Given the description of an element on the screen output the (x, y) to click on. 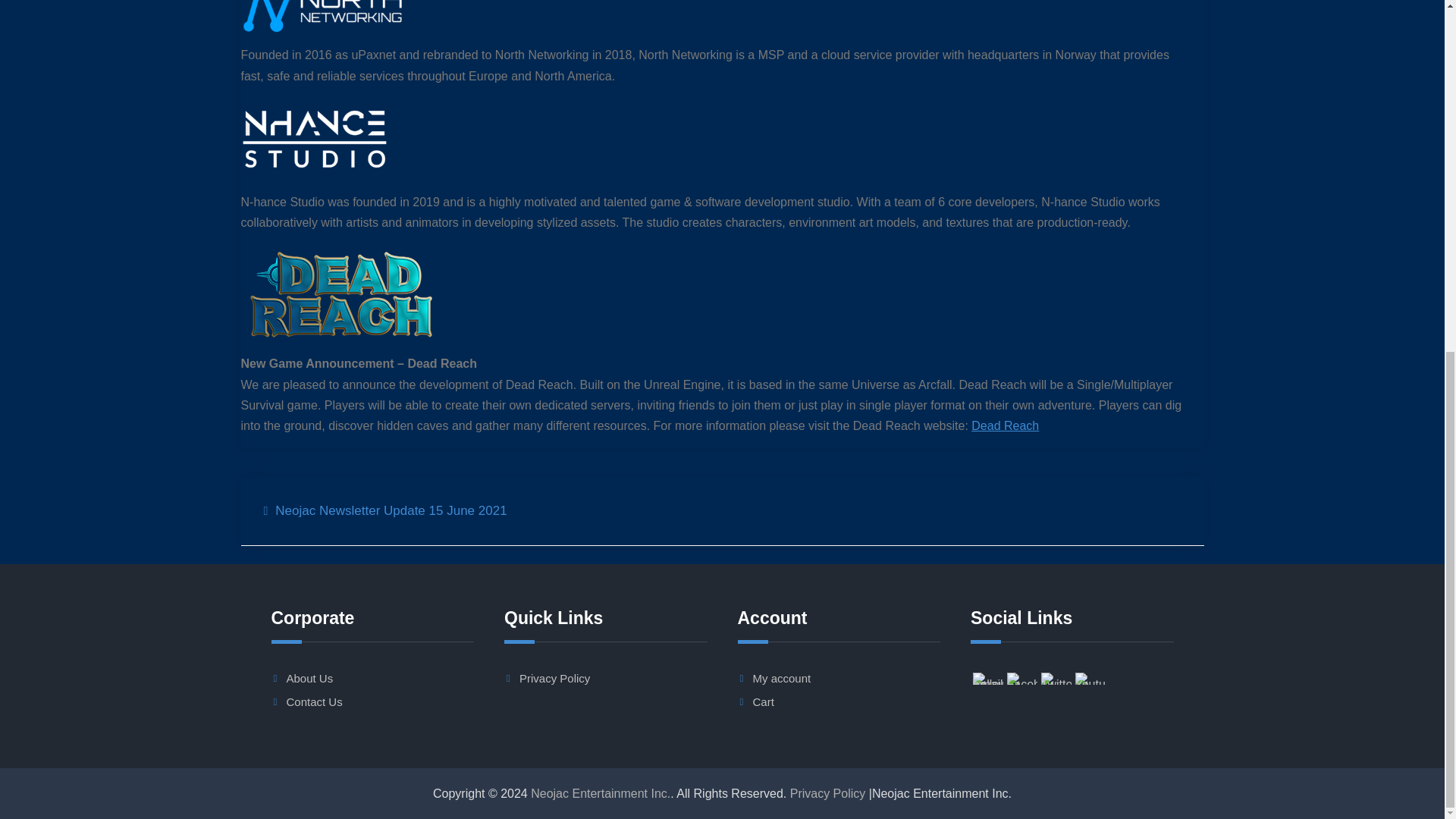
Neojac Entertainment Inc. (600, 793)
Privacy Policy (554, 677)
Neojac Newsletter Update 15 June 2021 (384, 511)
Privacy Policy (828, 793)
About Us (309, 677)
Twitter (1055, 678)
Contact Us (314, 701)
Facebook (1021, 678)
Follow by Email (987, 678)
My account (781, 677)
Cart (762, 701)
Youtube (1090, 678)
Dead Reach (1005, 425)
